Given the description of an element on the screen output the (x, y) to click on. 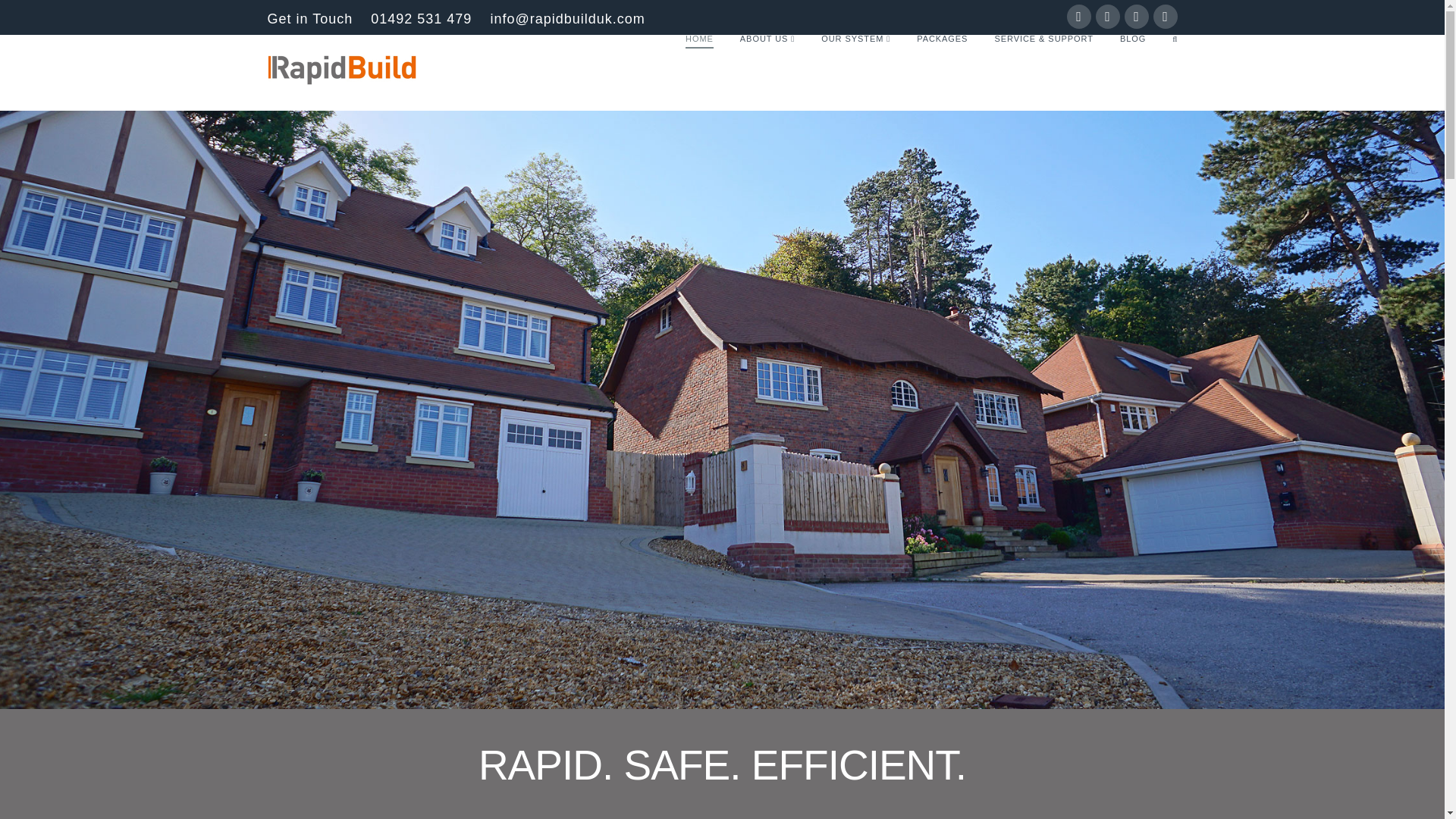
Facebook (1077, 16)
YouTube (1136, 16)
Instagram (1164, 16)
Twitter (1106, 16)
01492 531 479 (421, 18)
Britain's Leading Fast Build System (340, 70)
PACKAGES (940, 72)
OUR SYSTEM (855, 72)
ABOUT US (767, 72)
